Given the description of an element on the screen output the (x, y) to click on. 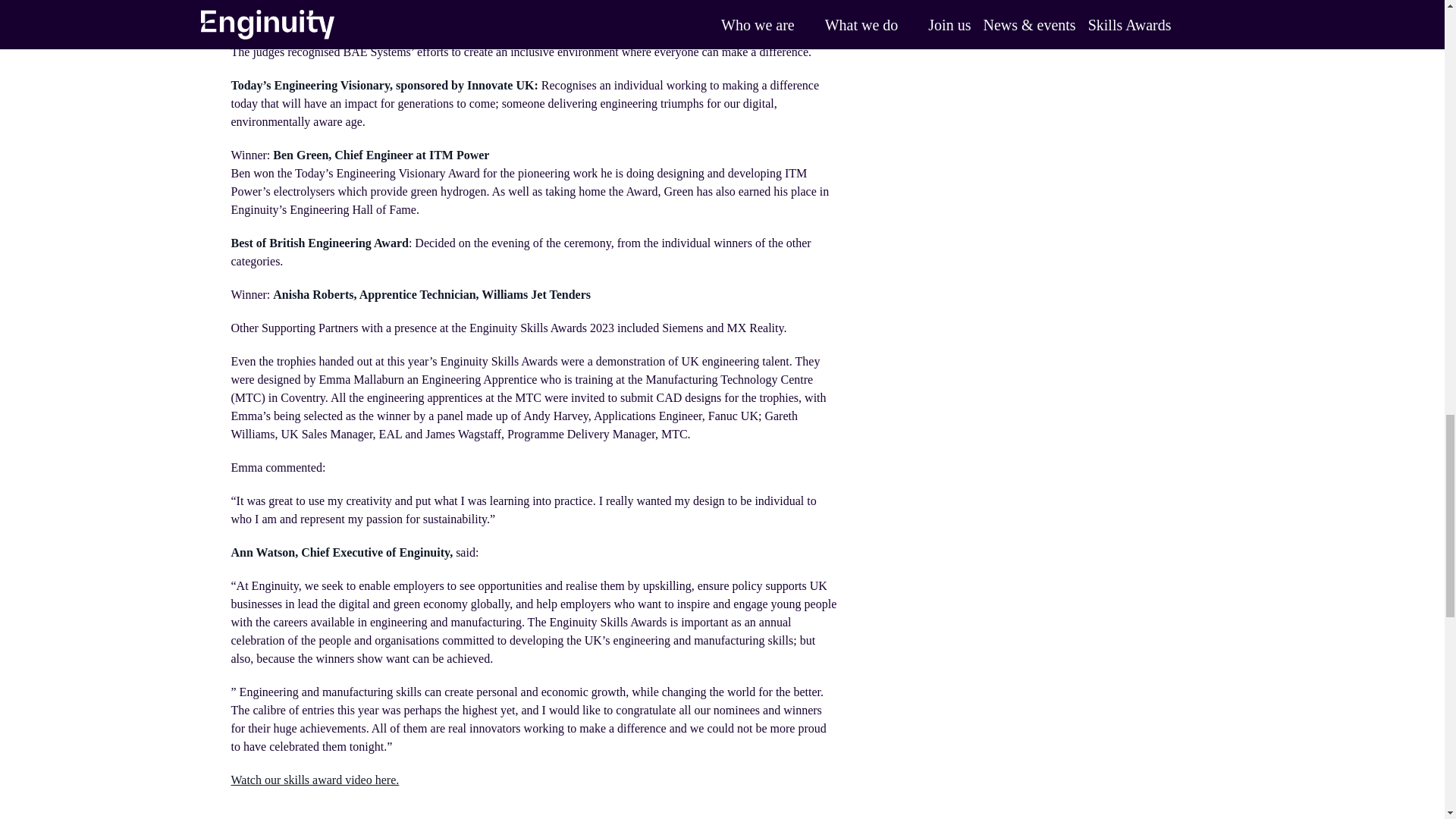
Watch our skills award video here. (314, 779)
